Given the description of an element on the screen output the (x, y) to click on. 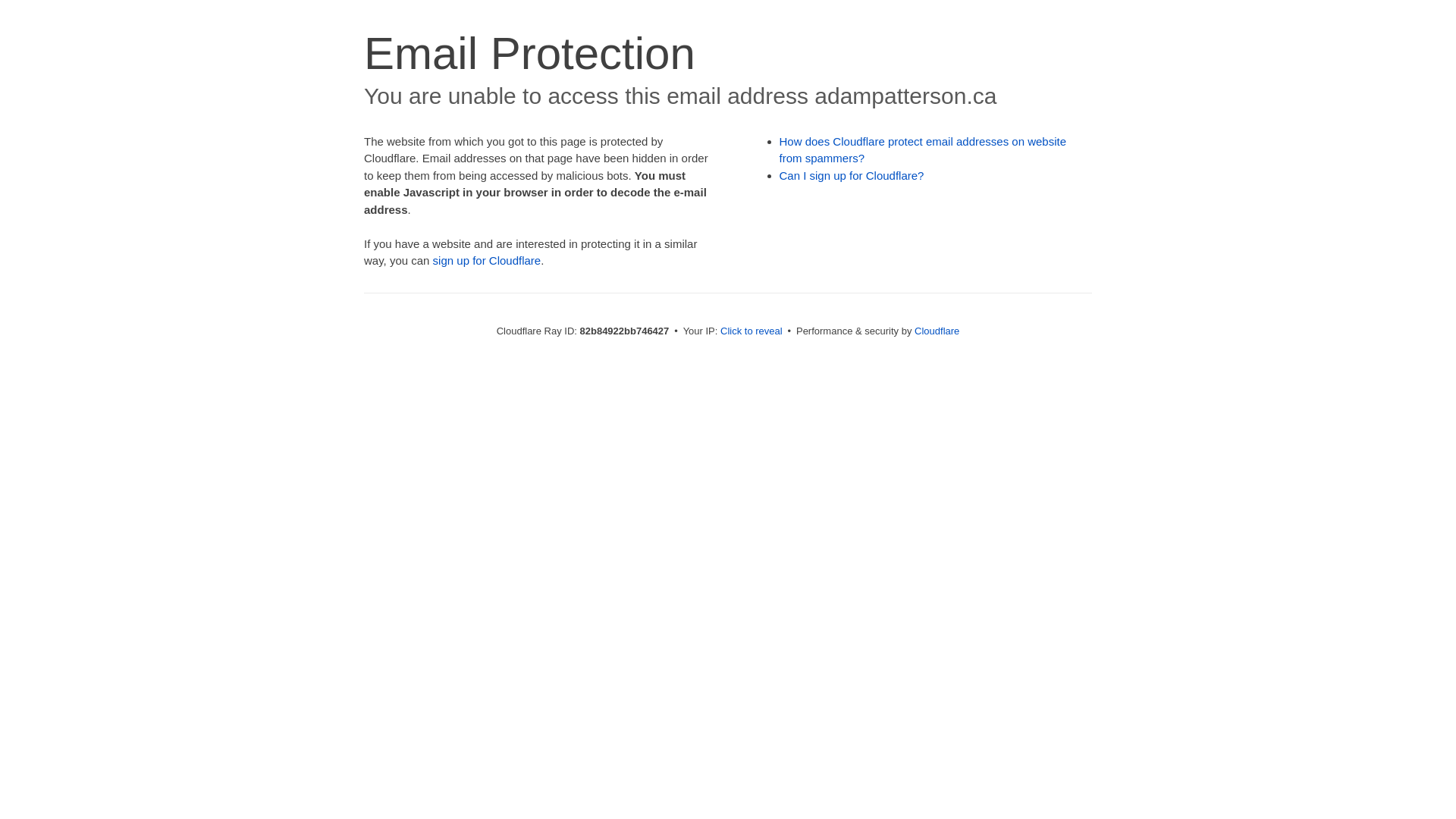
Can I sign up for Cloudflare? Element type: text (851, 175)
Click to reveal Element type: text (751, 330)
Cloudflare Element type: text (936, 330)
sign up for Cloudflare Element type: text (487, 260)
